Given the description of an element on the screen output the (x, y) to click on. 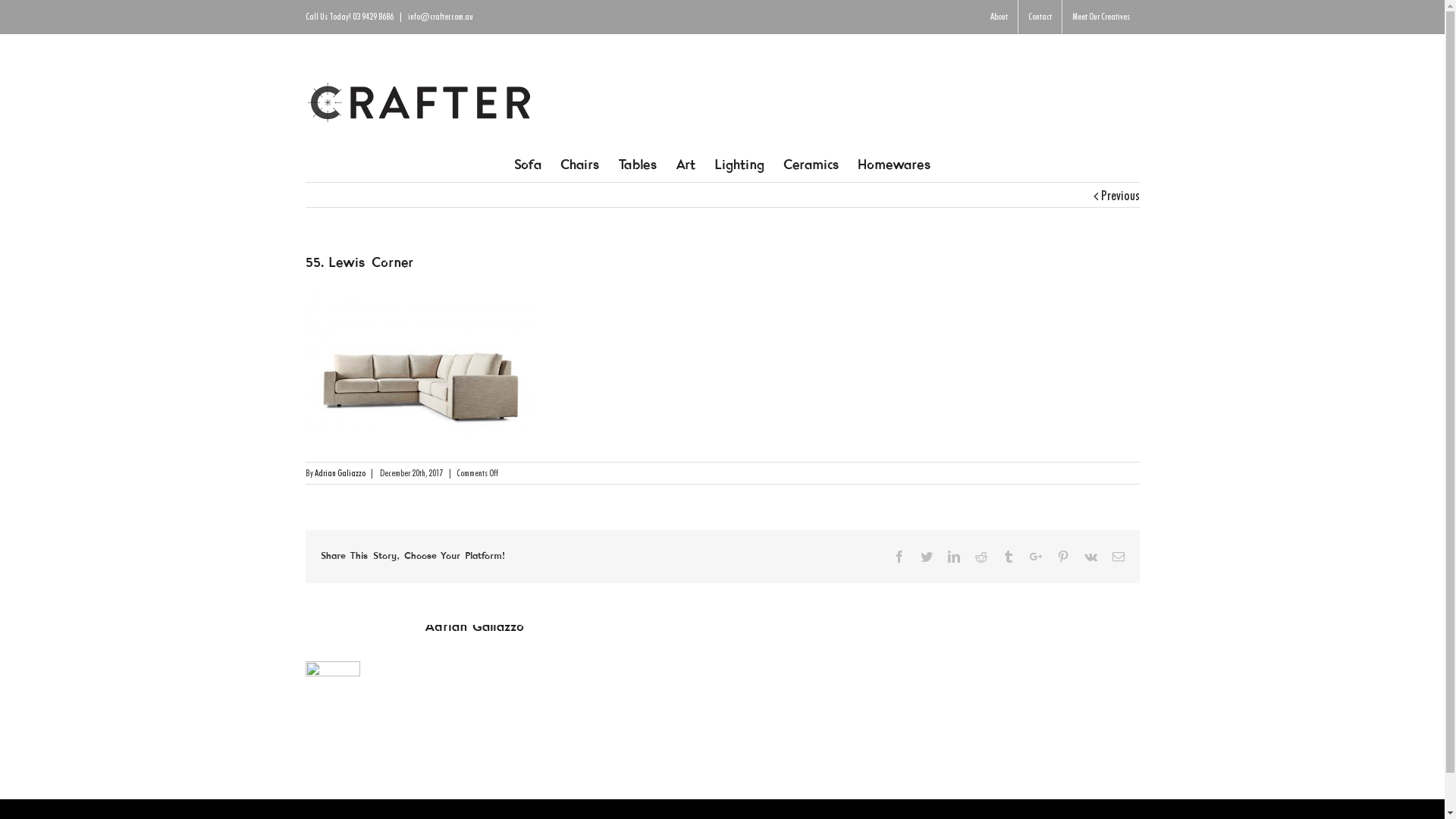
Lighting Element type: text (739, 164)
Tumblr Element type: text (1008, 556)
Art Element type: text (685, 164)
Homewares Element type: text (893, 164)
Reddit Element type: text (981, 556)
Chairs Element type: text (579, 164)
Linkedin Element type: text (953, 556)
Tables Element type: text (637, 164)
Adrian Galiazzo Element type: text (474, 627)
Email Element type: text (1117, 556)
Facebook Element type: text (899, 556)
Meet Our Creatives Element type: text (1100, 16)
03 9429 8686 Element type: text (371, 15)
Vk Element type: text (1090, 556)
info@crafter.com.au Element type: text (440, 15)
Previous Element type: text (1120, 195)
Adrian Galiazzo Element type: text (338, 472)
Twitter Element type: text (926, 556)
Ceramics Element type: text (810, 164)
Contact Element type: text (1038, 16)
About Element type: text (997, 16)
Pinterest Element type: text (1063, 556)
Google+ Element type: text (1035, 556)
Sofa Element type: text (527, 164)
